Given the description of an element on the screen output the (x, y) to click on. 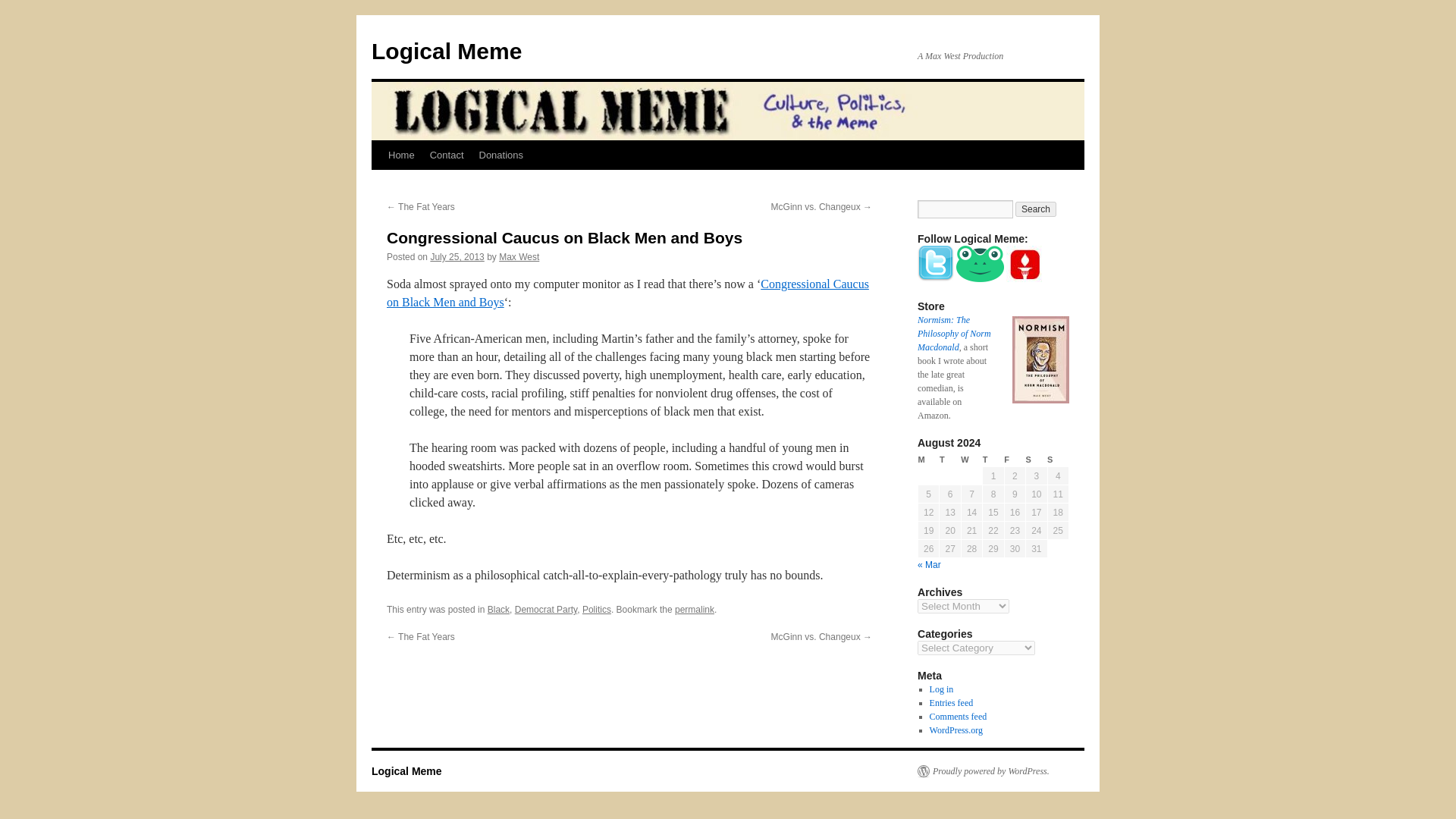
Home (401, 154)
Permalink to Congressional Caucus on Black Men and Boys (694, 609)
Thursday (993, 459)
Wednesday (970, 459)
Entries feed (952, 702)
Tuesday (949, 459)
9:33 pm (456, 256)
View all posts by Max West (518, 256)
Search (1035, 209)
Log in (941, 688)
